Given the description of an element on the screen output the (x, y) to click on. 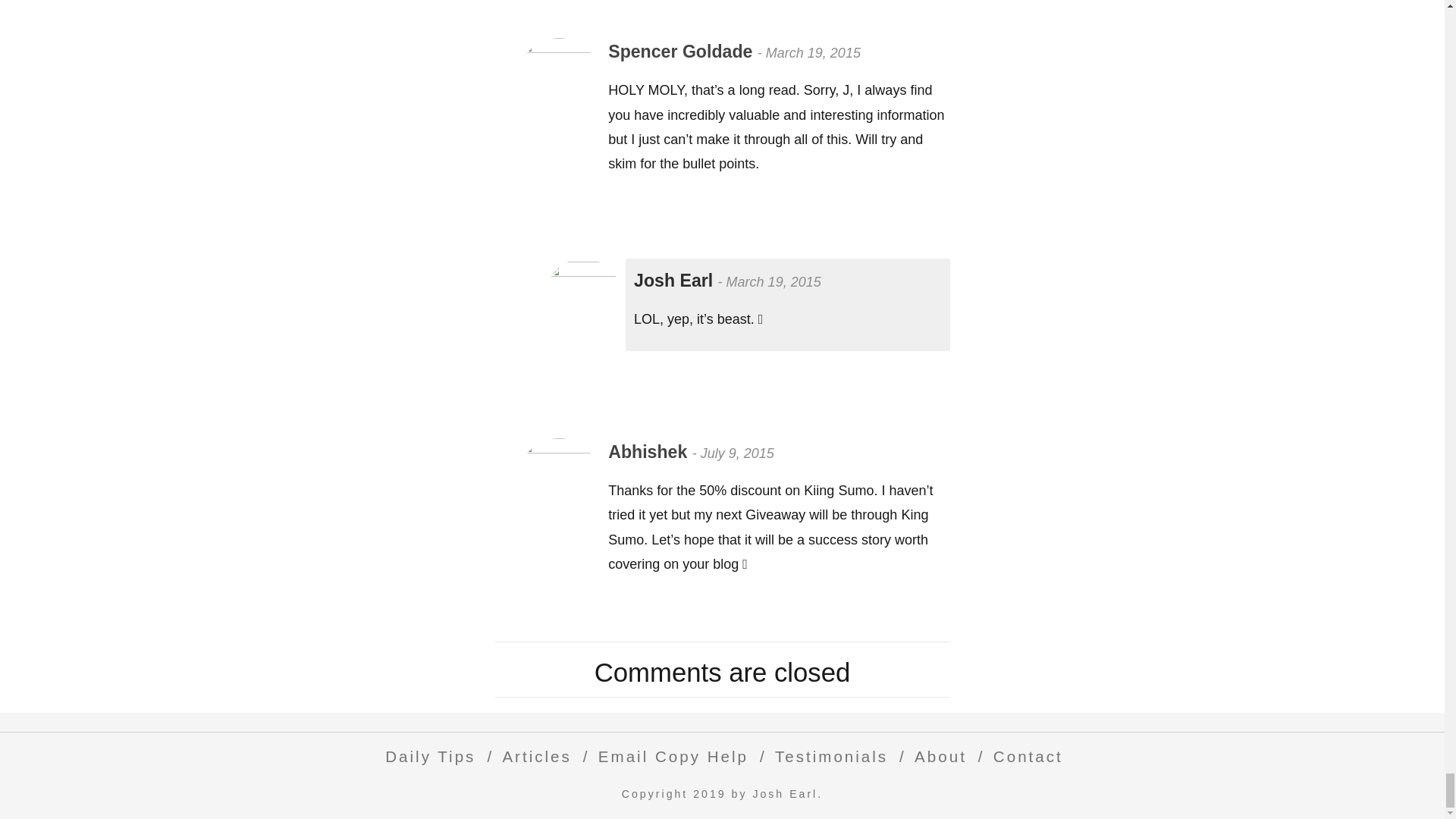
Josh Earl (675, 280)
Daily Tips (426, 755)
About (936, 755)
Contact (1024, 755)
Abhishek (650, 451)
Email Copy Help (669, 755)
Testimonials (827, 755)
Articles (532, 755)
Spencer Goldade (682, 51)
